Given the description of an element on the screen output the (x, y) to click on. 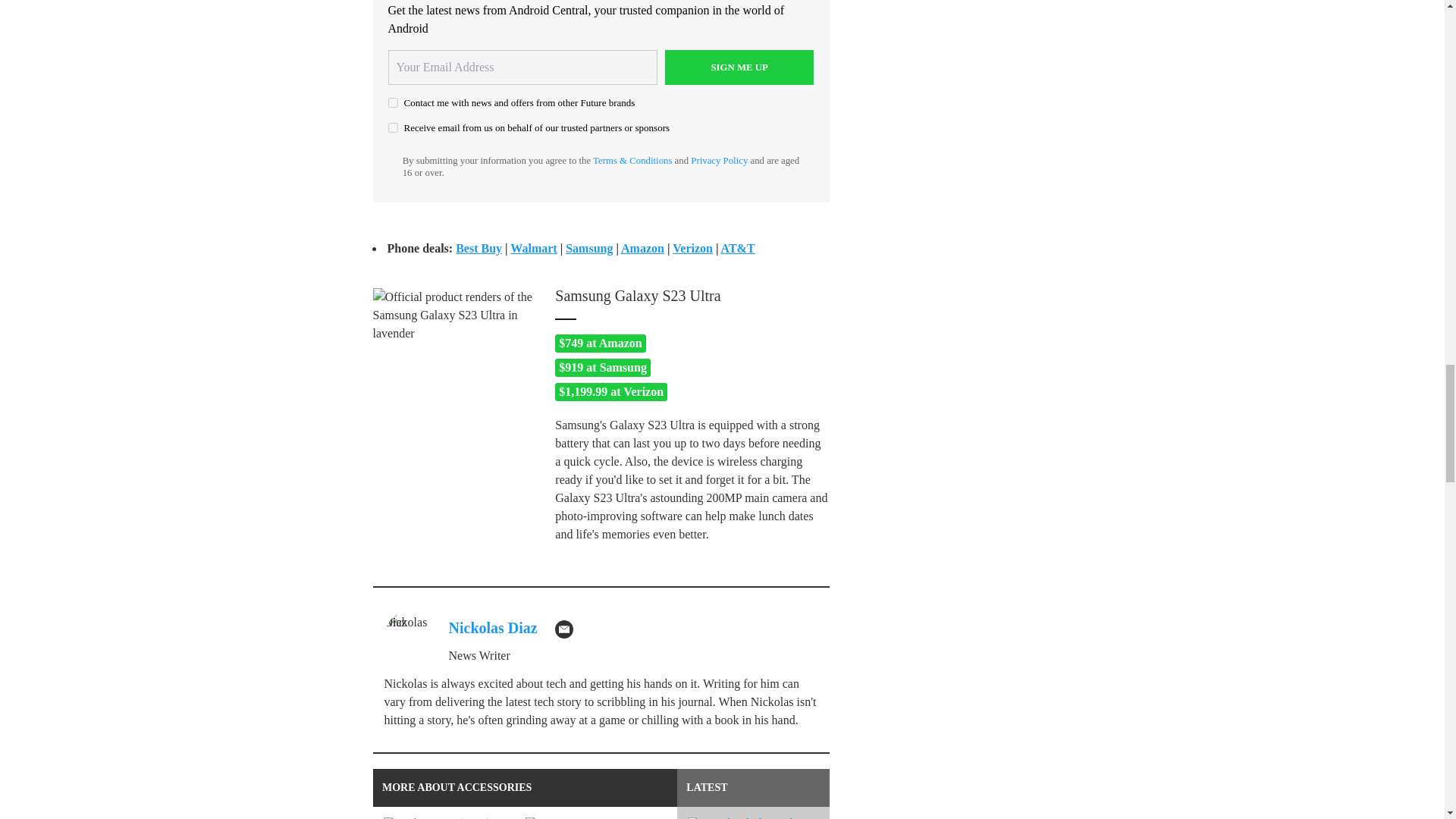
Sign me up (739, 67)
on (392, 102)
on (392, 127)
